Given the description of an element on the screen output the (x, y) to click on. 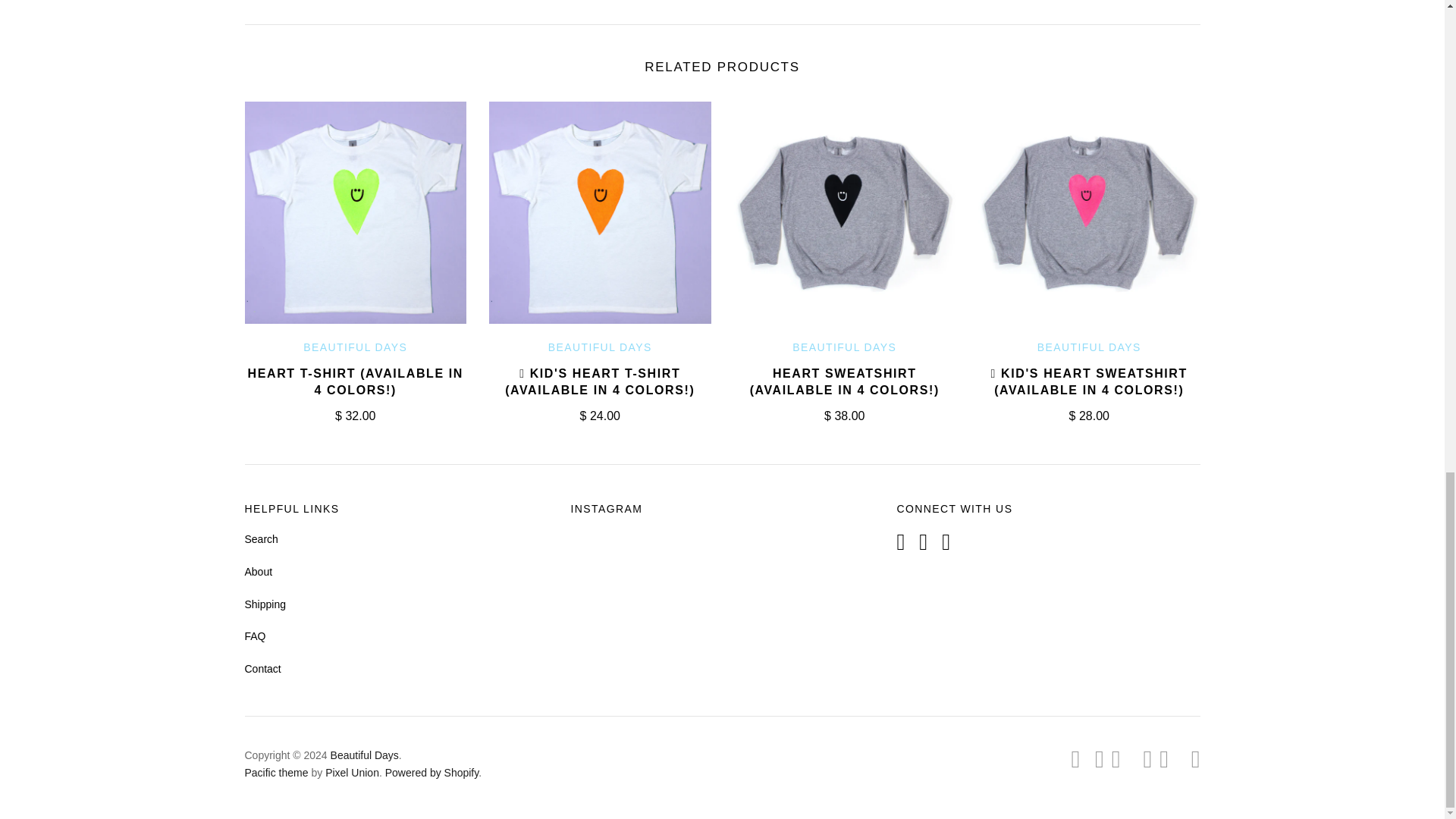
Beautiful Days (1088, 346)
Beautiful Days (844, 346)
Beautiful Days (600, 346)
BEAUTIFUL DAYS (354, 346)
BEAUTIFUL DAYS (1088, 346)
BEAUTIFUL DAYS (600, 346)
BEAUTIFUL DAYS (844, 346)
Beautiful Days (354, 346)
